Given the description of an element on the screen output the (x, y) to click on. 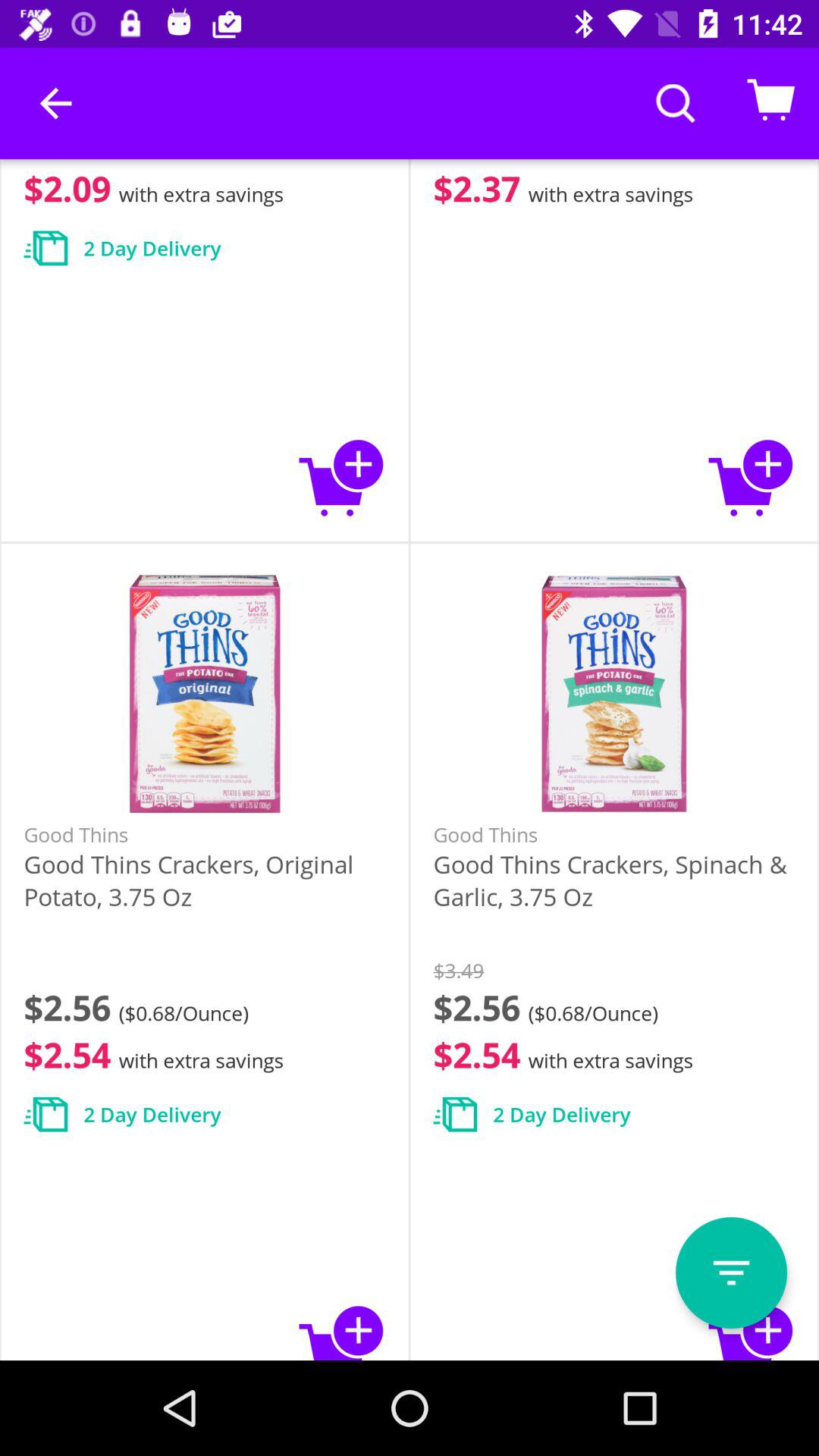
add to shopping cart (342, 477)
